Given the description of an element on the screen output the (x, y) to click on. 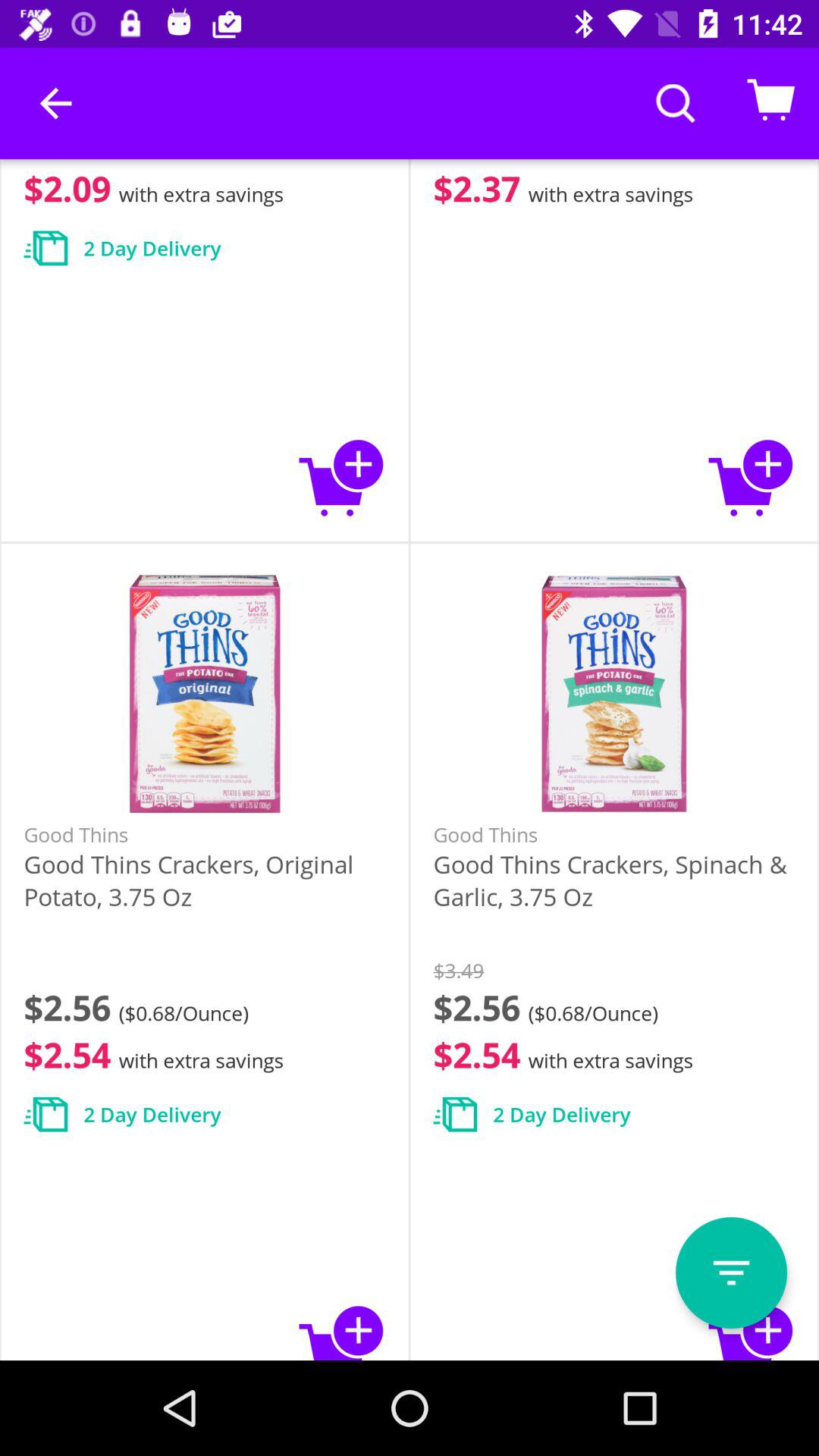
add to shopping cart (342, 477)
